Given the description of an element on the screen output the (x, y) to click on. 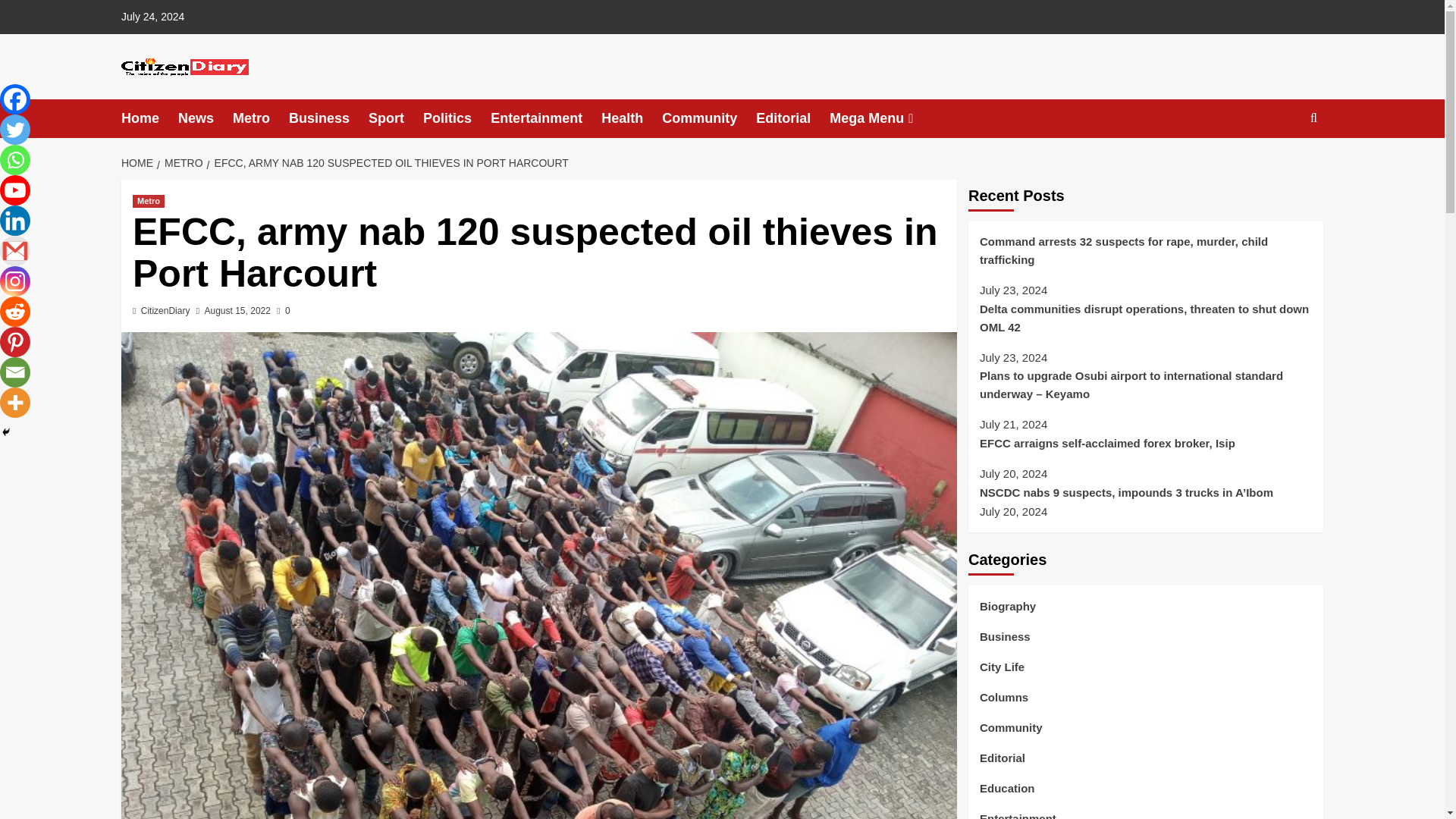
HOME (138, 162)
Politics (456, 118)
METRO (181, 162)
EFCC, ARMY NAB 120 SUSPECTED OIL THIEVES IN PORT HARCOURT (389, 162)
Mega Menu (882, 118)
Facebook (15, 99)
Google Gmail (15, 250)
Email (15, 372)
Business (328, 118)
Pinterest (15, 341)
Search (1278, 164)
Instagram (15, 281)
Sport (395, 118)
CitizenDiary (165, 310)
Whatsapp (15, 159)
